Given the description of an element on the screen output the (x, y) to click on. 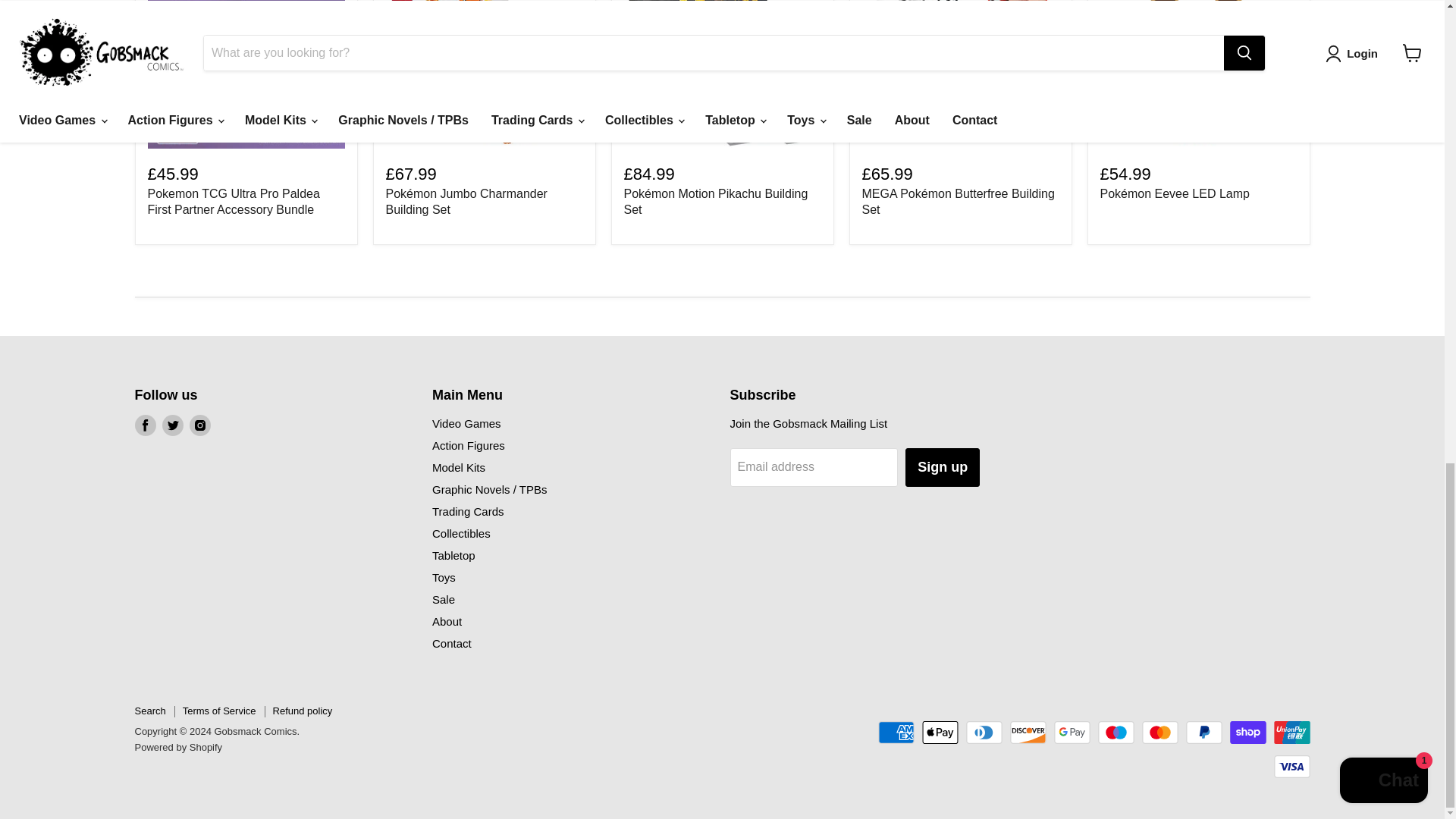
Instagram (200, 424)
Twitter (172, 424)
Facebook (145, 424)
